Given the description of an element on the screen output the (x, y) to click on. 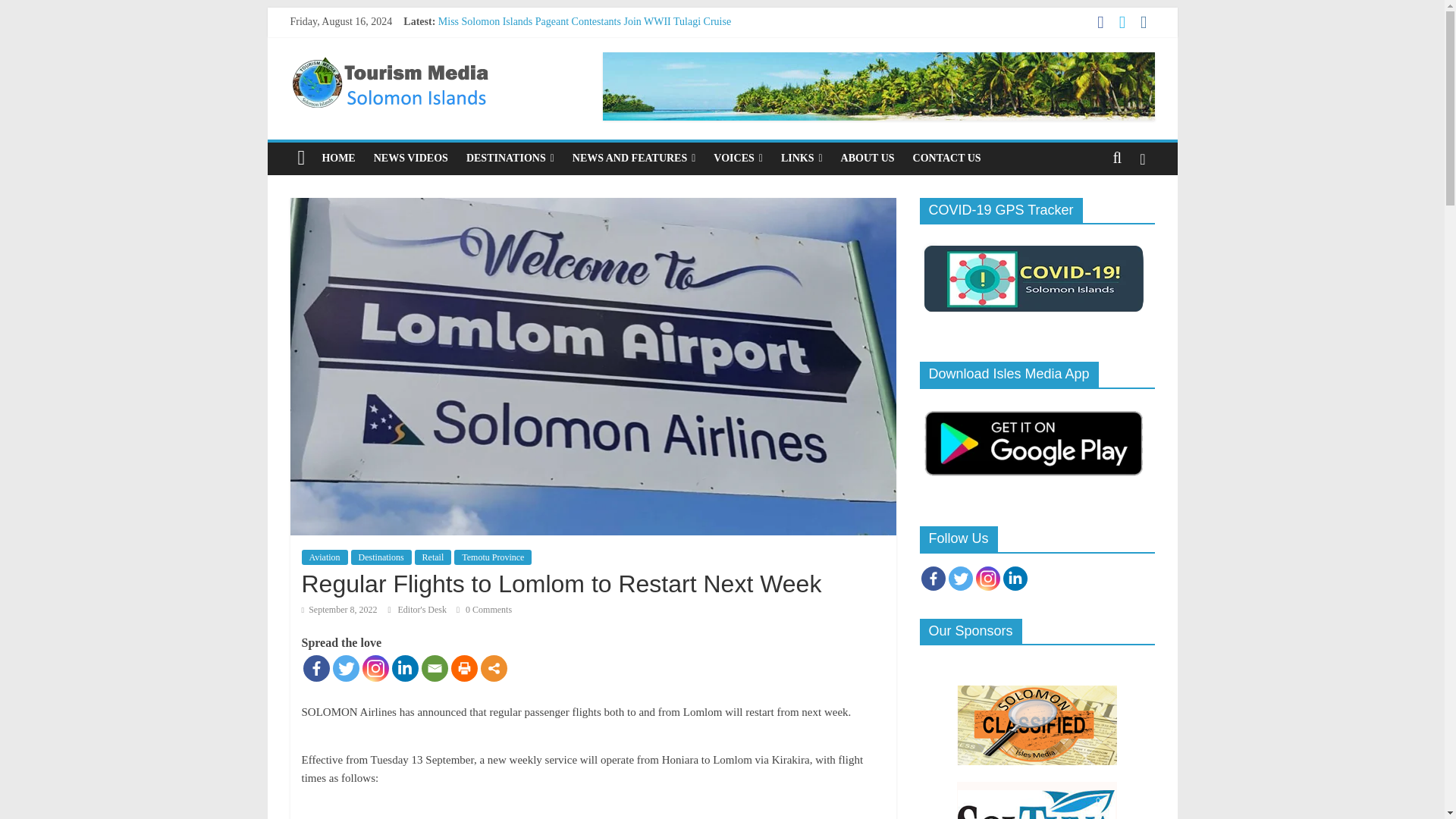
HOME (338, 158)
Twitter (344, 668)
PM Attended Memorial Ceremonies Honoring WWII Heroes (576, 38)
Solomon Airlines Shortlisted in the 2024 World Travel Awards (571, 89)
NEWS VIDEOS (411, 158)
Solomon Airlines Shortlisted in the 2024 World Travel Awards (571, 89)
